Given the description of an element on the screen output the (x, y) to click on. 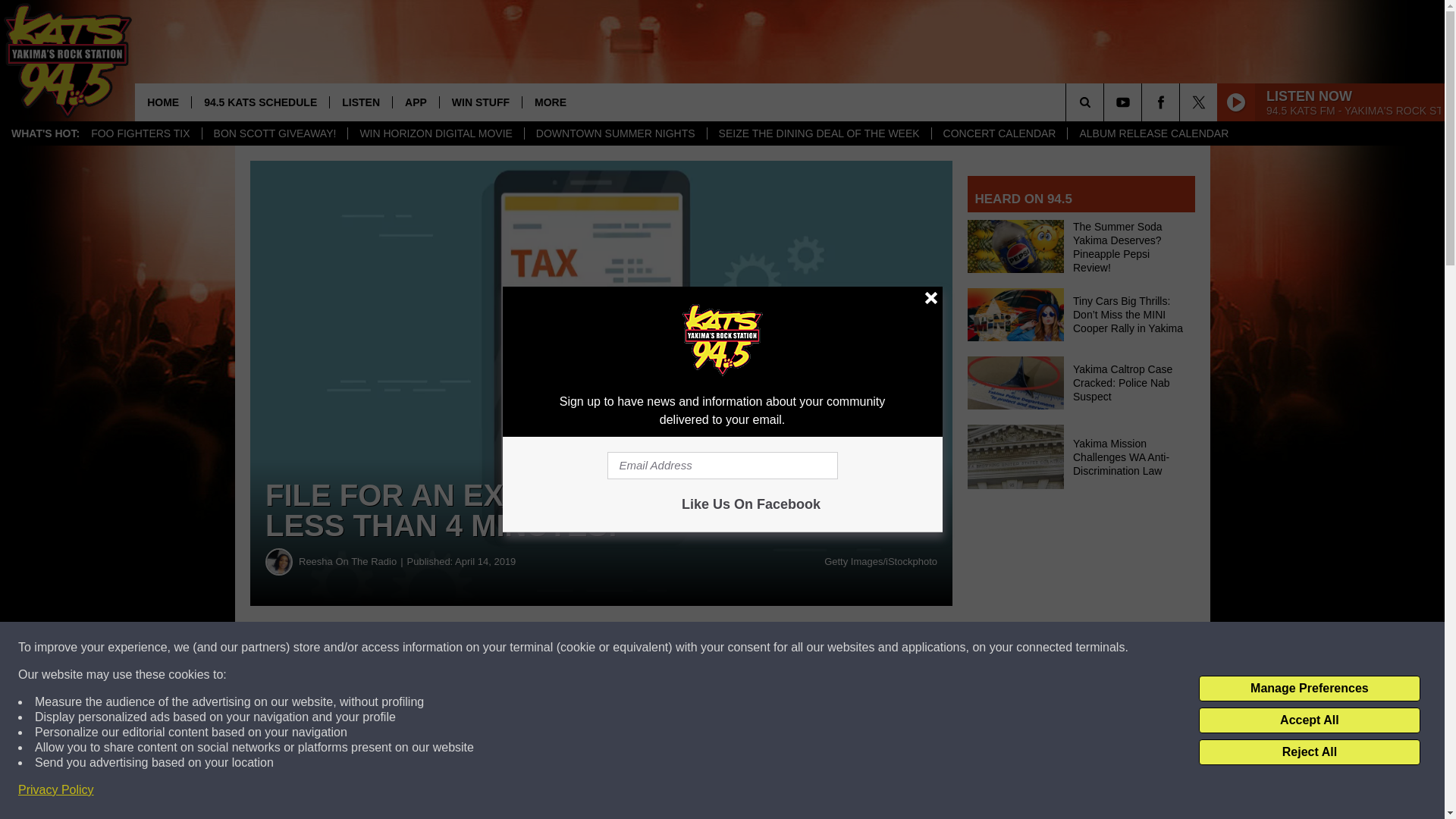
HOME (162, 102)
Email Address (722, 465)
FOO FIGHTERS TIX (140, 133)
WIN STUFF (480, 102)
BON SCOTT GIVEAWAY! (274, 133)
Accept All (1309, 720)
Share on Twitter (741, 647)
Reject All (1309, 751)
Privacy Policy (55, 789)
DOWNTOWN SUMMER NIGHTS (615, 133)
SEARCH (1106, 102)
APP (415, 102)
WIN HORIZON DIGITAL MOVIE (434, 133)
CONCERT CALENDAR (999, 133)
SEIZE THE DINING DEAL OF THE WEEK (818, 133)
